Given the description of an element on the screen output the (x, y) to click on. 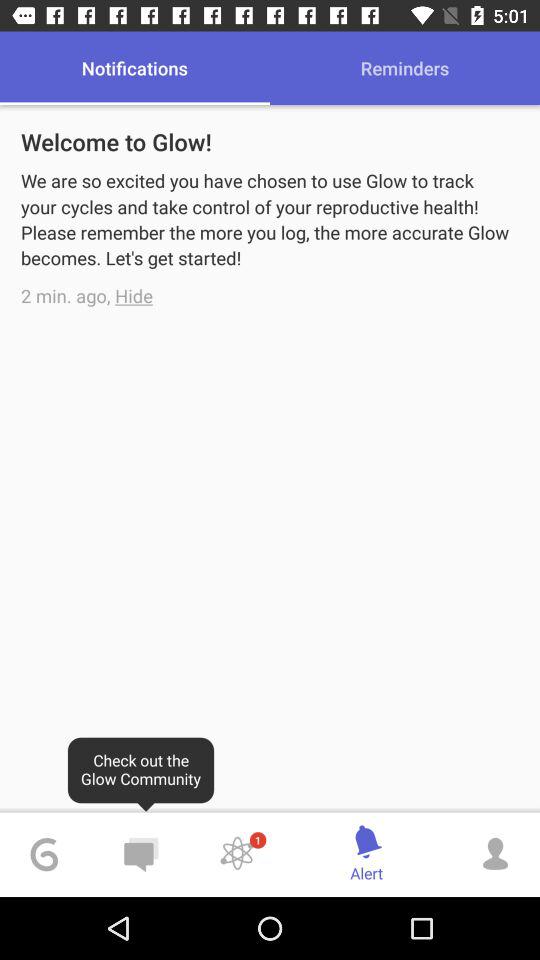
open item next to 2 min. ago,  item (133, 295)
